Given the description of an element on the screen output the (x, y) to click on. 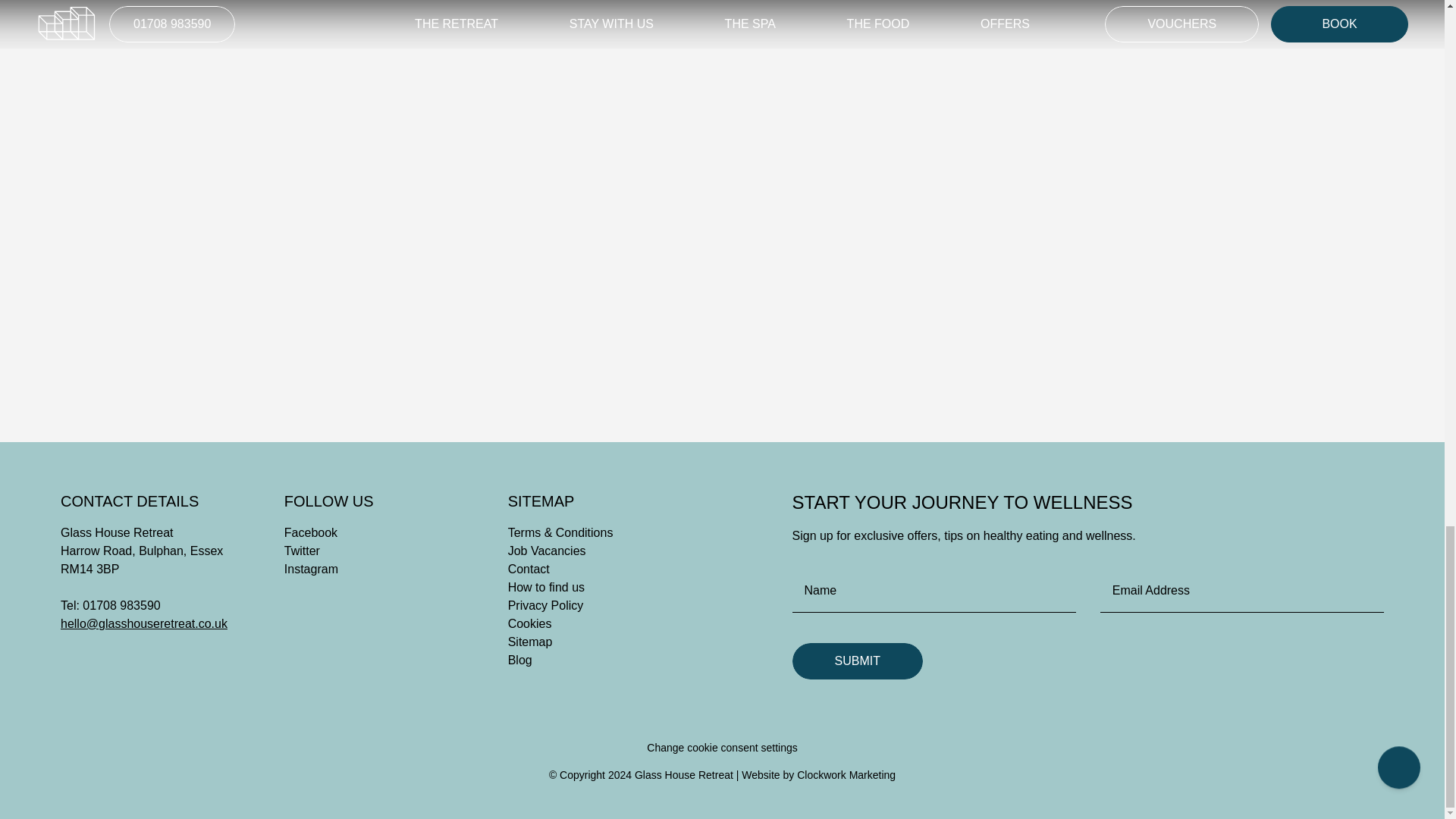
Facebook (310, 533)
Twitter (301, 551)
Clockwork Marketing (845, 775)
Instagram (310, 569)
